Given the description of an element on the screen output the (x, y) to click on. 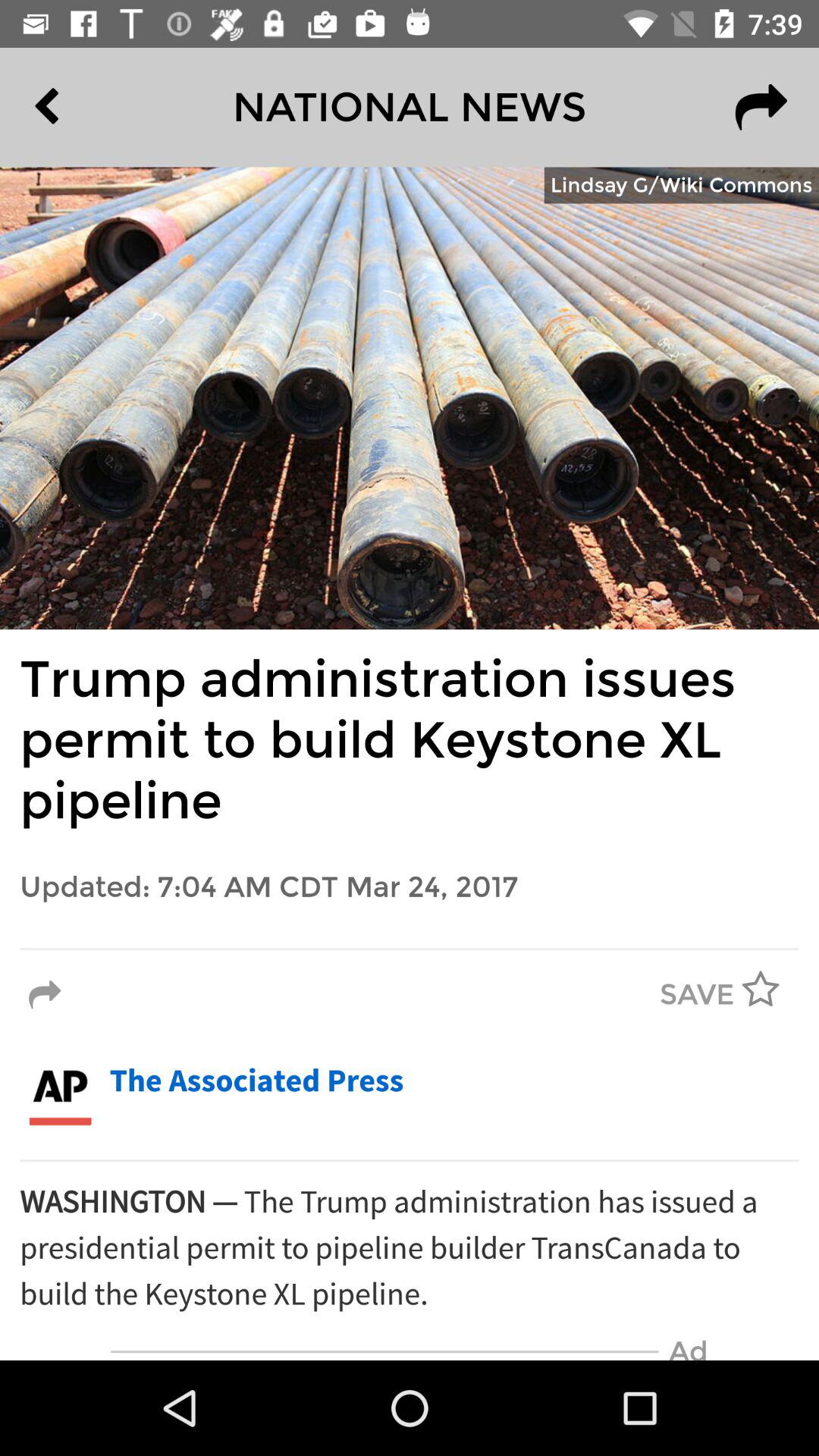
open the icon next to the national news item (81, 107)
